Given the description of an element on the screen output the (x, y) to click on. 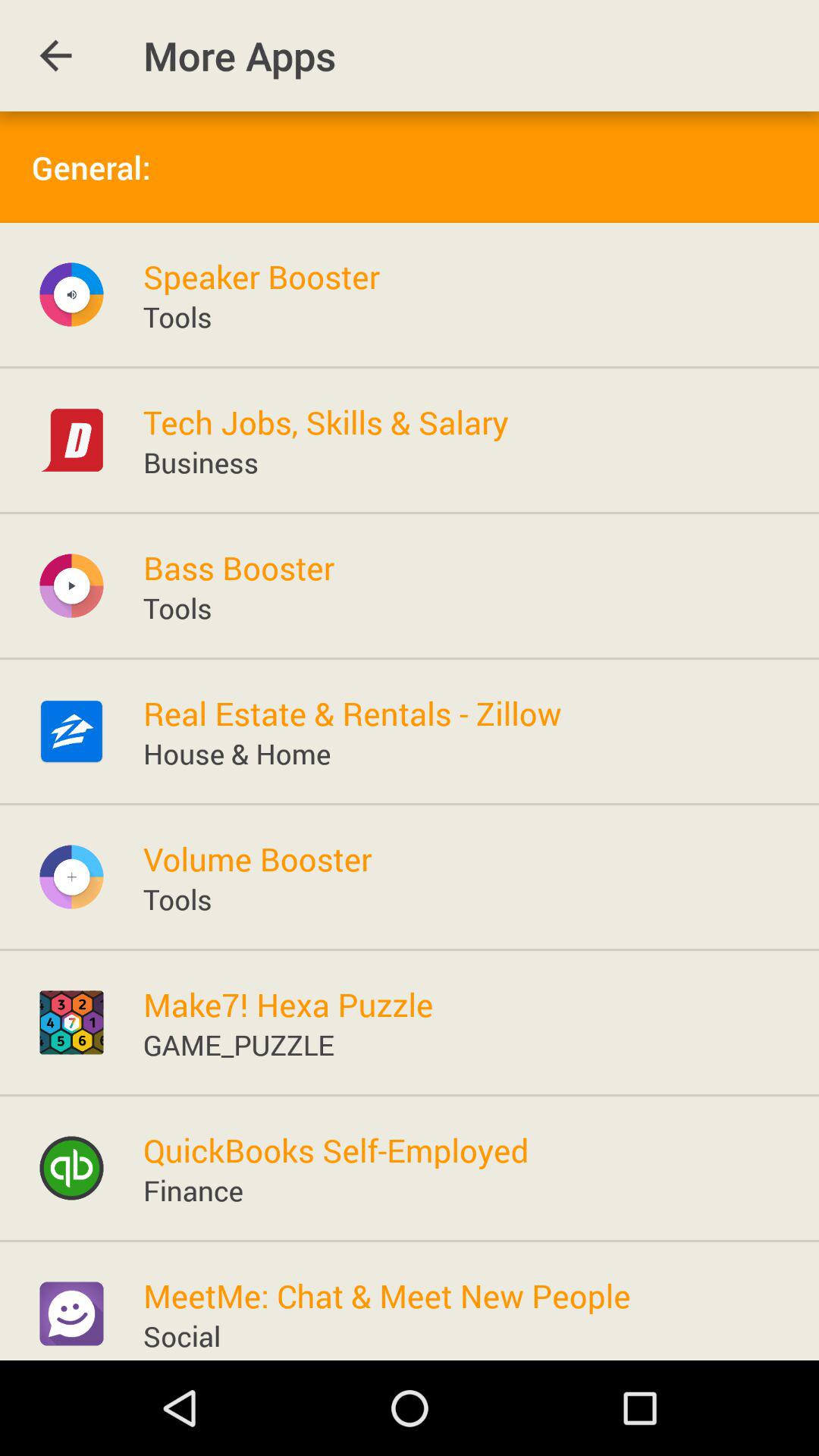
select item above finance item (335, 1149)
